Given the description of an element on the screen output the (x, y) to click on. 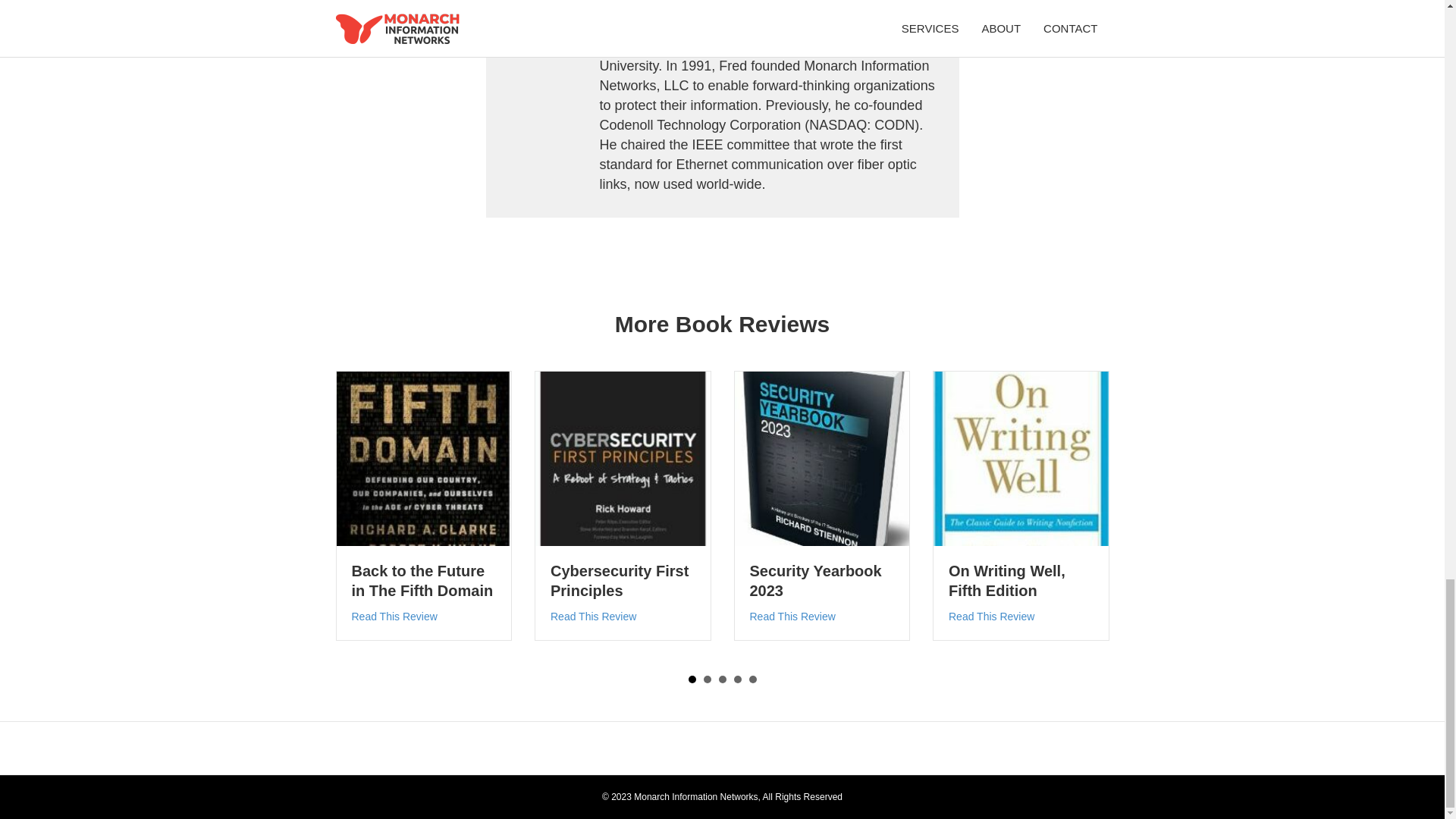
Read This Review (791, 616)
Cybersecurity First Principles (593, 616)
Read This Review (593, 616)
zinsser (1020, 459)
Cybersecurity First Principles (619, 580)
On Writing Well, Fifth Edition (1007, 580)
Security Yearbook 2023 (814, 580)
cfp (622, 459)
On Writing Well, Fifth Edition (1007, 580)
Back to the Future in The Fifth Domain (422, 580)
